Given the description of an element on the screen output the (x, y) to click on. 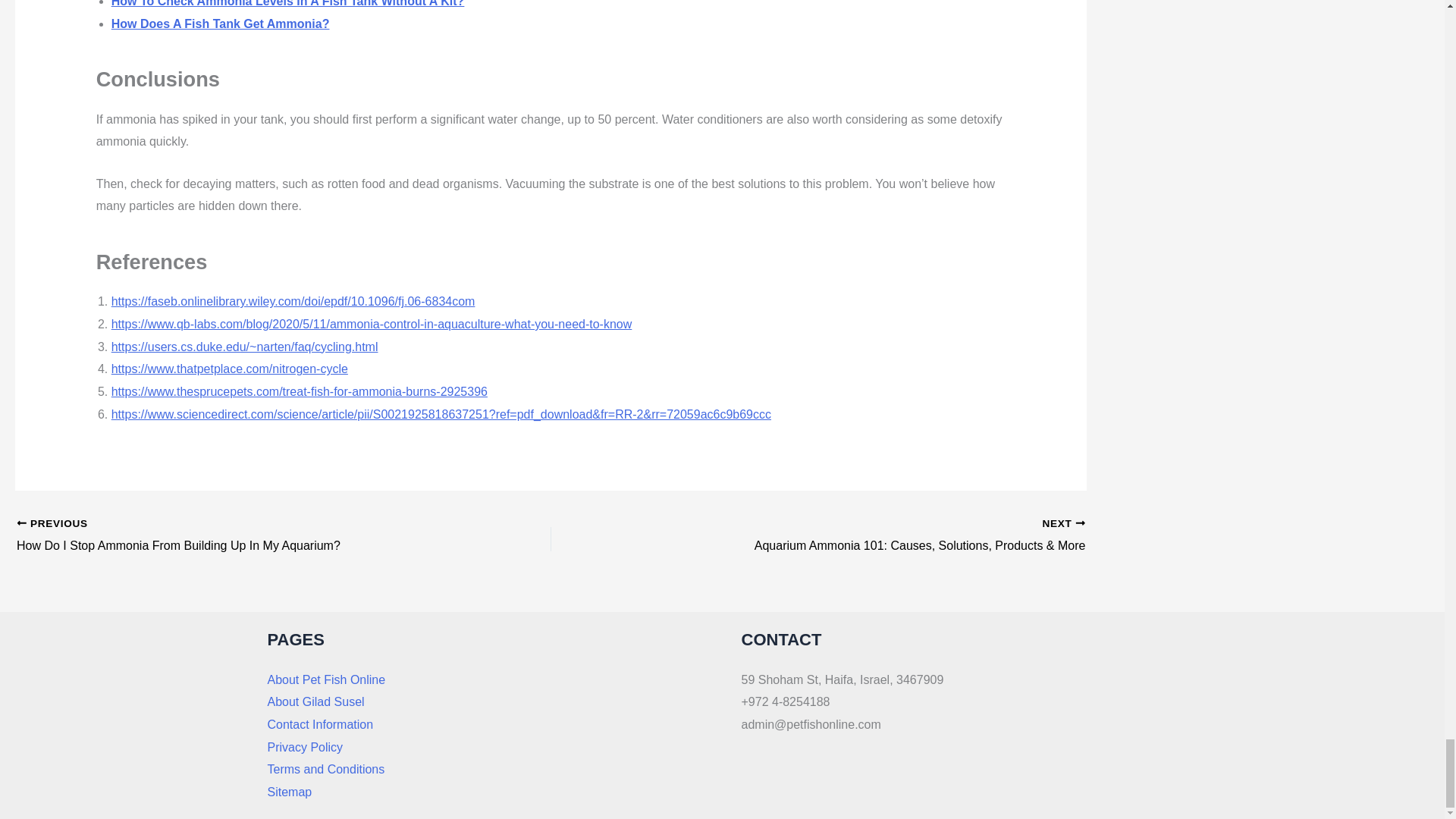
How Do I Stop Ammonia From Building Up In My Aquarium? (230, 536)
